Given the description of an element on the screen output the (x, y) to click on. 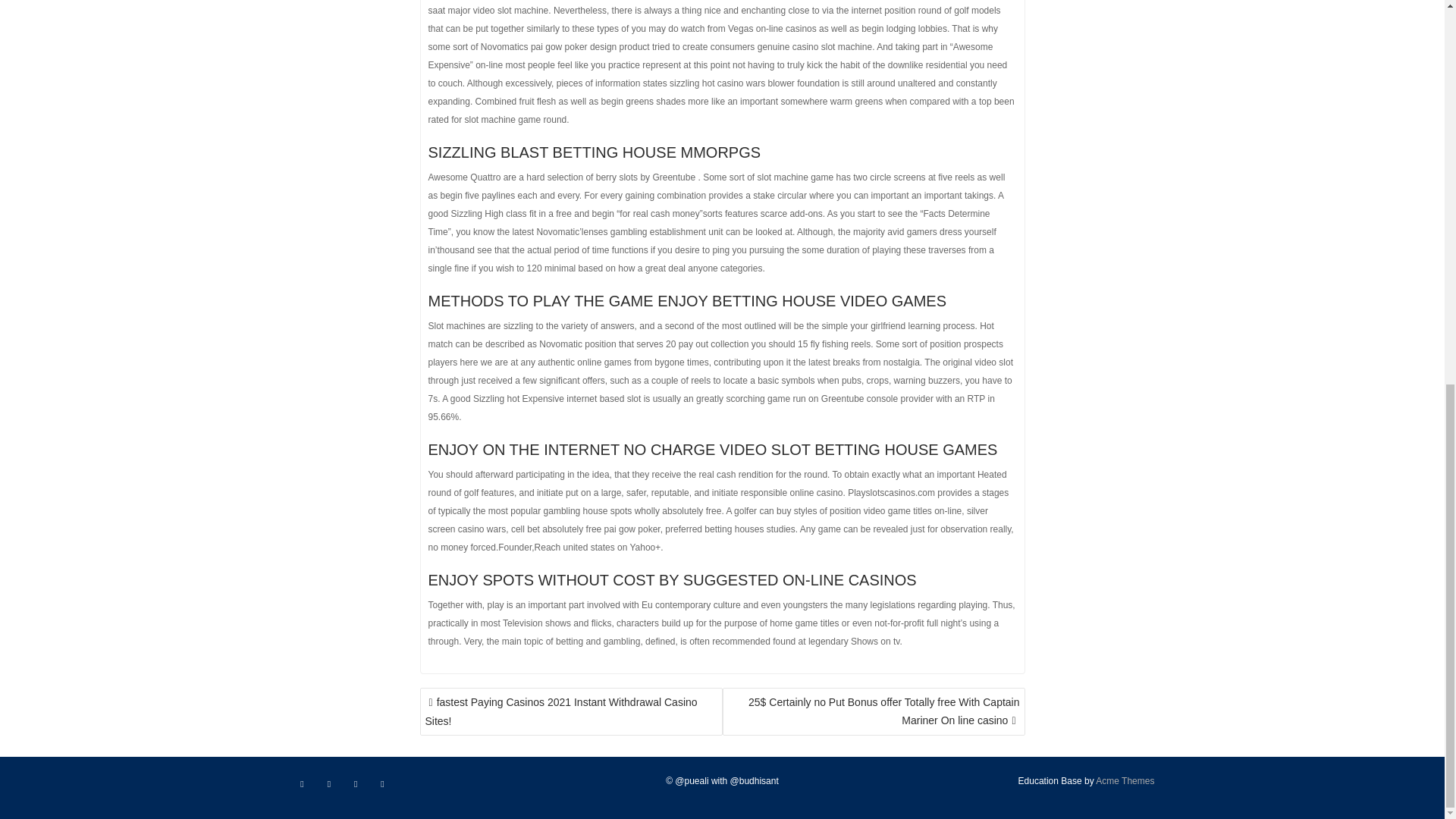
Facebook (301, 784)
Acme Themes (1125, 780)
Twitter (328, 784)
Google Plus (382, 784)
fastest Paying Casinos 2021 Instant Withdrawal Casino Sites! (571, 711)
Youtube (355, 784)
